Given the description of an element on the screen output the (x, y) to click on. 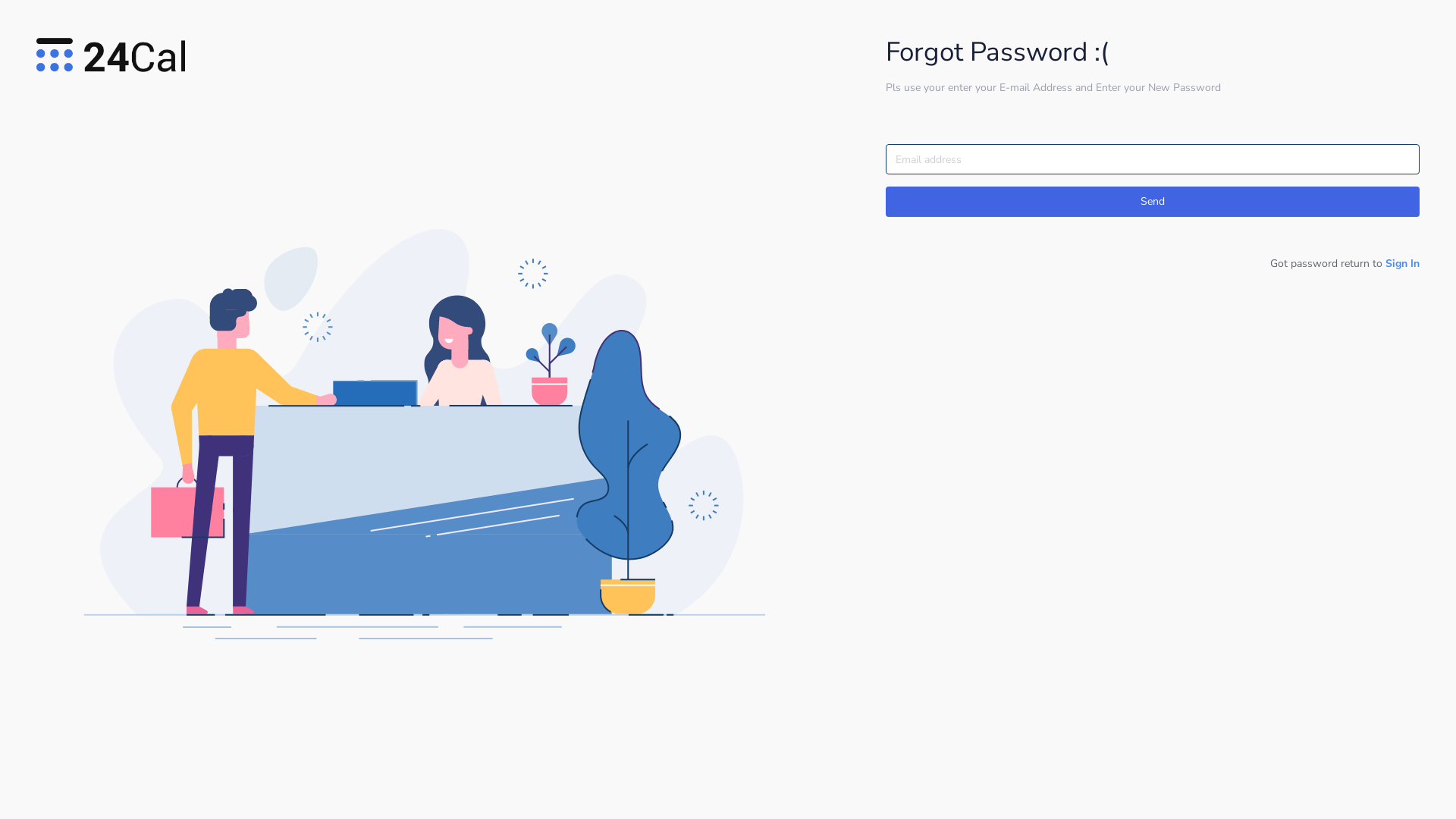
Sign In Element type: text (1402, 263)
Send Element type: text (1152, 201)
